Given the description of an element on the screen output the (x, y) to click on. 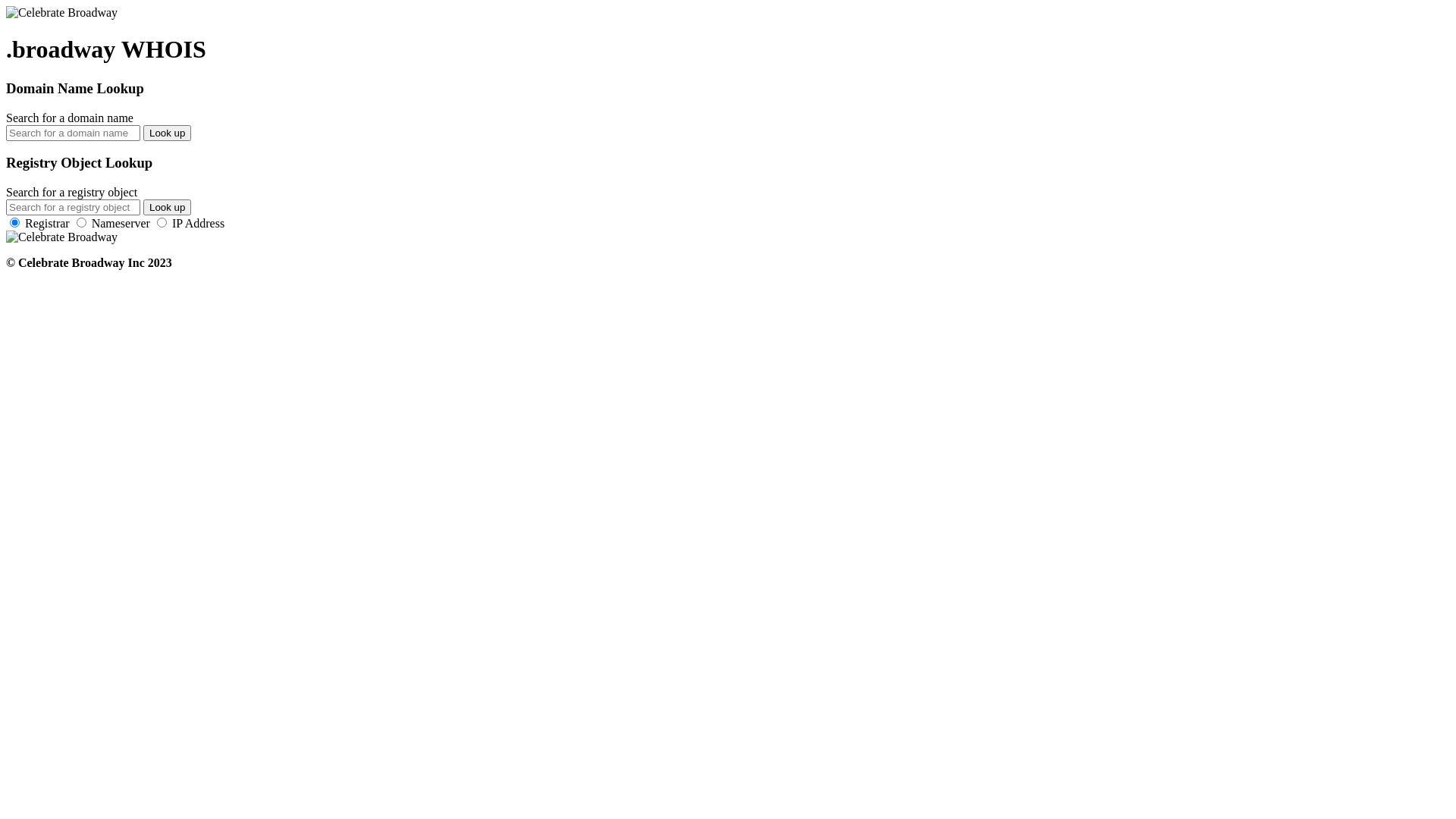
Look up Element type: text (167, 207)
Look up Element type: text (167, 133)
